Given the description of an element on the screen output the (x, y) to click on. 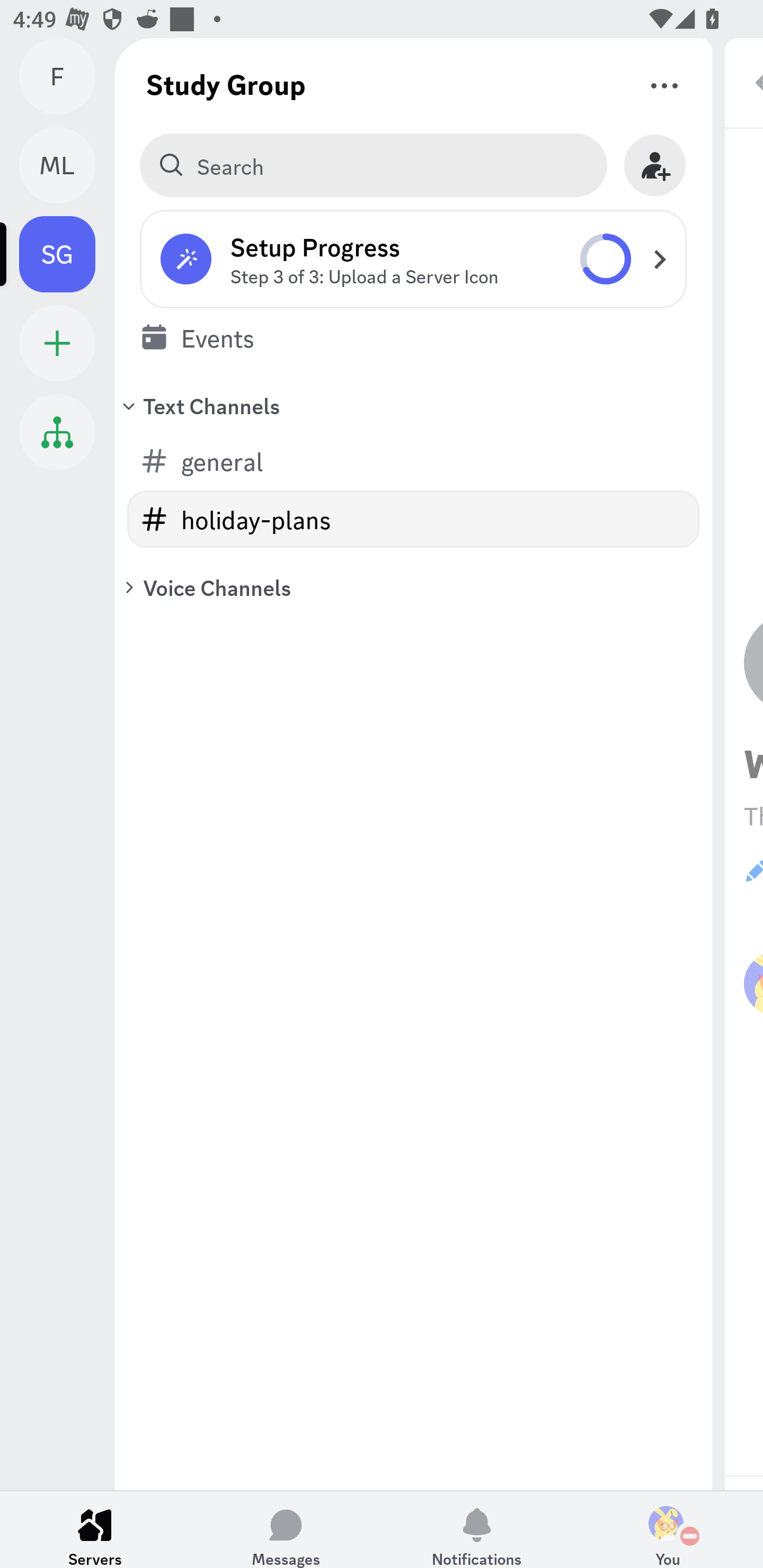
  Friends F (66, 75)
Study Group (226, 83)
  Music Lovers ML (66, 165)
Search (373, 165)
Invite (654, 165)
  Study Group SG (66, 253)
Add a Server (57, 343)
Events (413, 336)
Text Channels (412, 404)
Student Hub (57, 431)
general (text channel) general (413, 460)
holiday-plans (text channel) holiday-plans (413, 518)
Voice Channels (412, 586)
Edit channel (753, 870)
Servers (95, 1529)
Messages (285, 1529)
Notifications (476, 1529)
You (667, 1529)
